Given the description of an element on the screen output the (x, y) to click on. 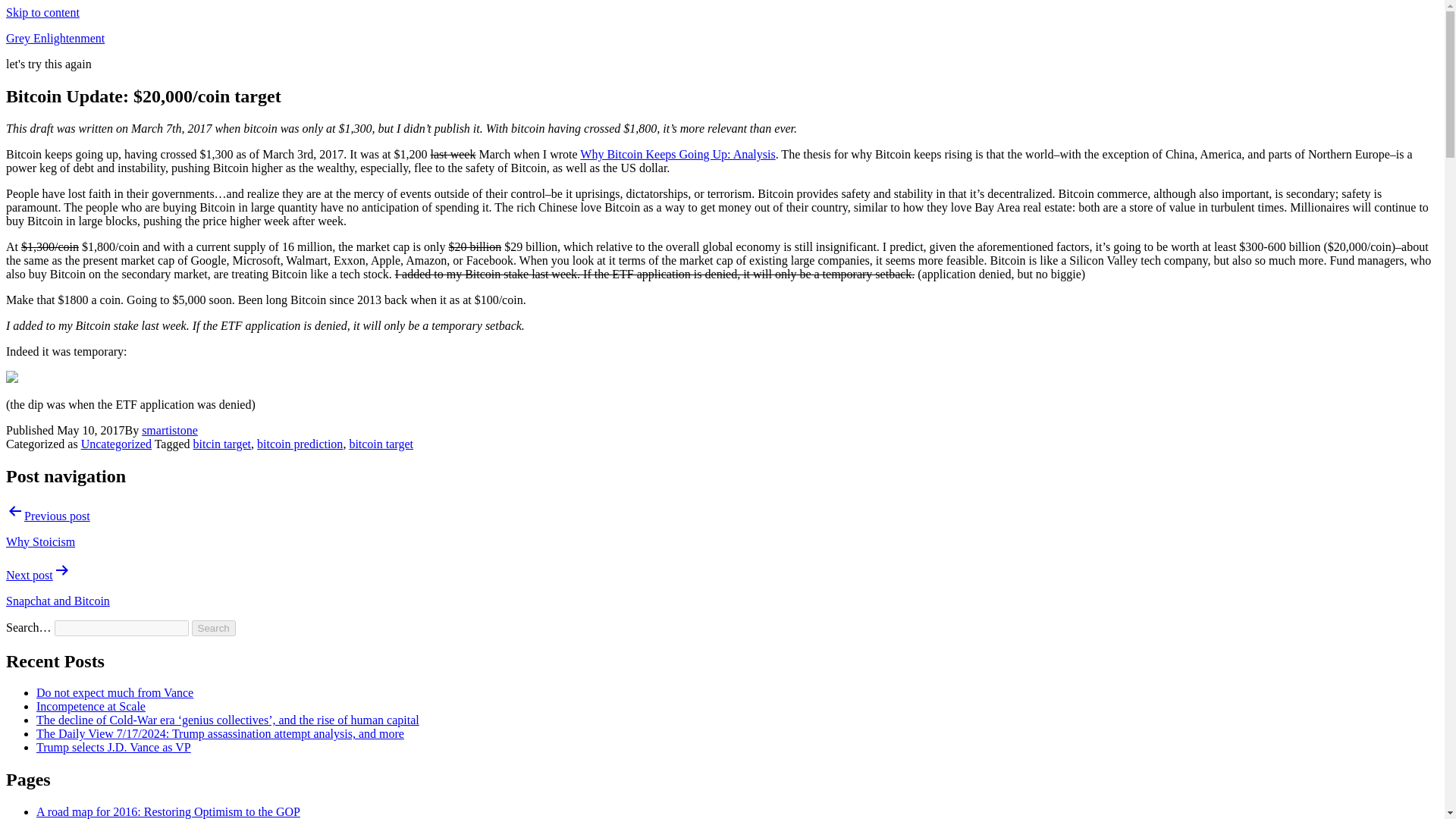
Trump selects J.D. Vance as VP (113, 747)
A road map for 2016: Restoring Optimism to the GOP (167, 811)
Do not expect much from Vance (114, 692)
Incompetence at Scale (90, 706)
Search (213, 627)
bitcoin prediction (299, 443)
Uncategorized (116, 443)
Grey Enlightenment (54, 38)
Skip to content (42, 11)
Search (213, 627)
Search (213, 627)
bitcoin target (381, 443)
smartistone (169, 430)
bitcin target (221, 443)
Why Bitcoin Keeps Going Up: Analysis (676, 154)
